Given the description of an element on the screen output the (x, y) to click on. 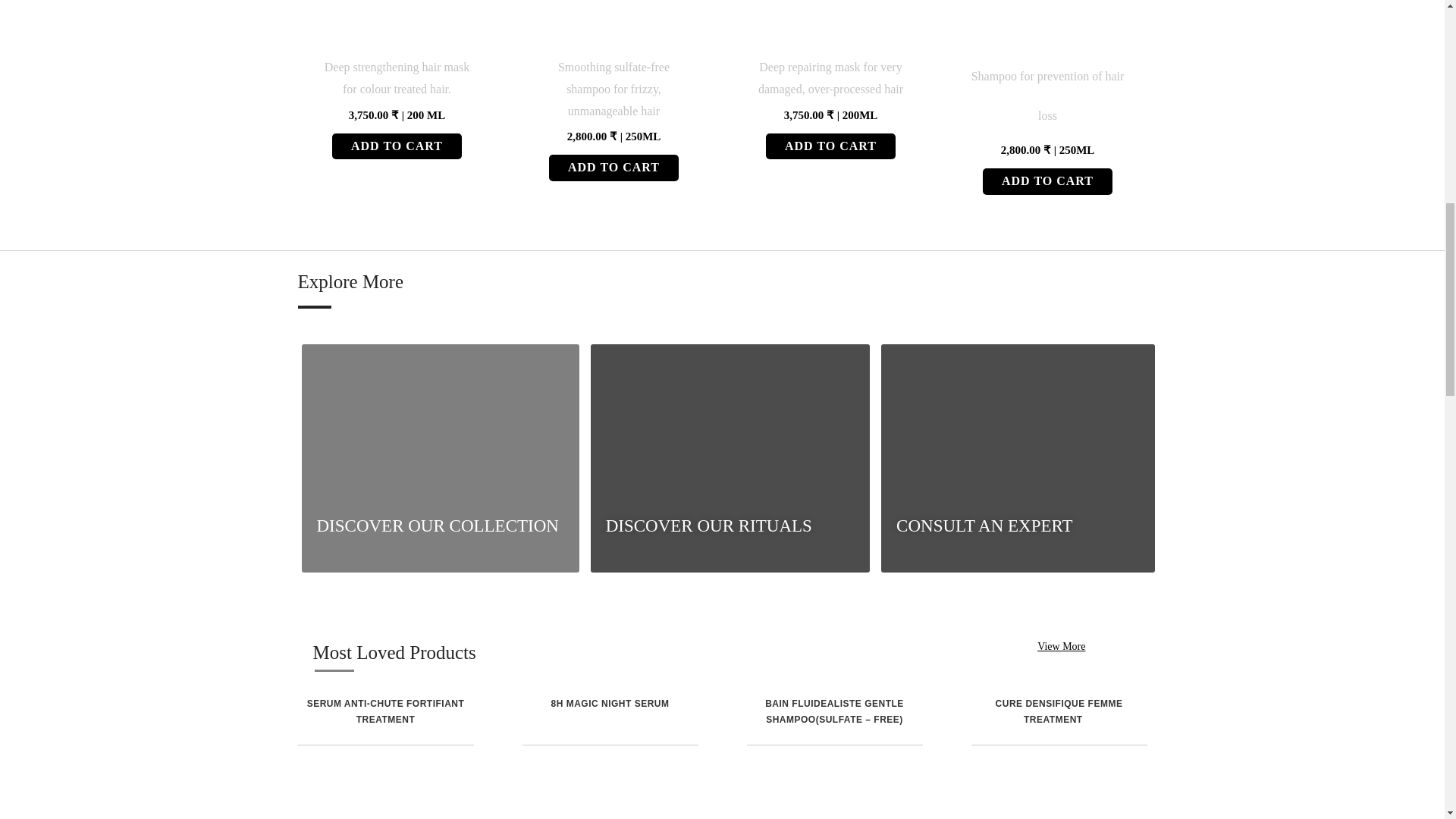
ADD TO CART (830, 146)
SERUM ANTI-CHUTE FORTIFIANT TREATMENT (385, 724)
BAIN PREVENTION SHAMPOO       (1046, 23)
View More (1060, 645)
MASQUE CHROMA FILLER MASK (395, 23)
ADD TO CART (613, 167)
ADD TO CART (1047, 181)
MASQUE THERAPISTE MASK  (829, 23)
ADD TO CART (396, 146)
CURE DENSIFIQUE FEMME TREATMENT     (1059, 724)
